Given the description of an element on the screen output the (x, y) to click on. 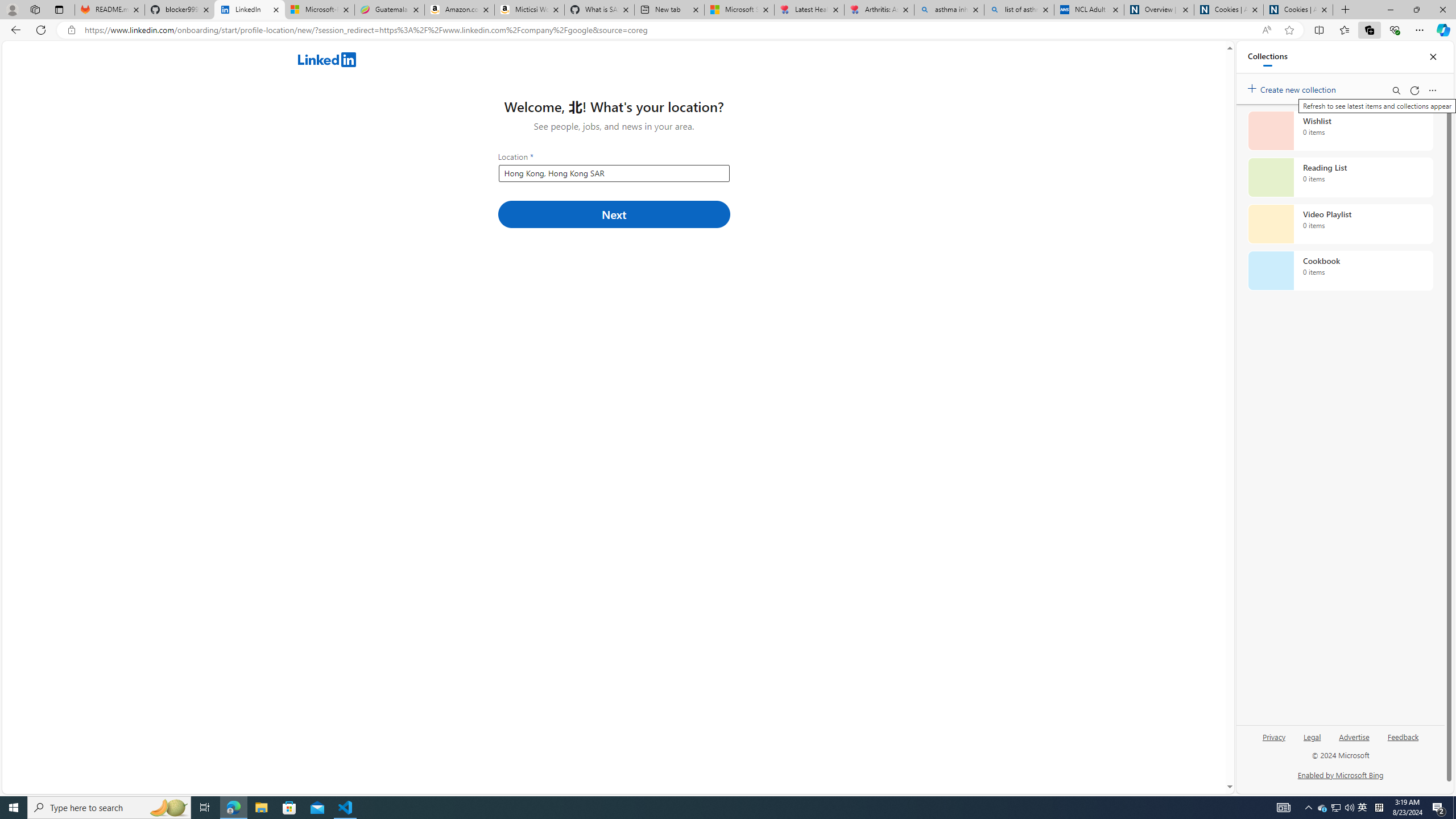
NCL Adult Asthma Inhaler Choice Guideline (1088, 9)
Video Playlist collection, 0 items (1339, 223)
